Given the description of an element on the screen output the (x, y) to click on. 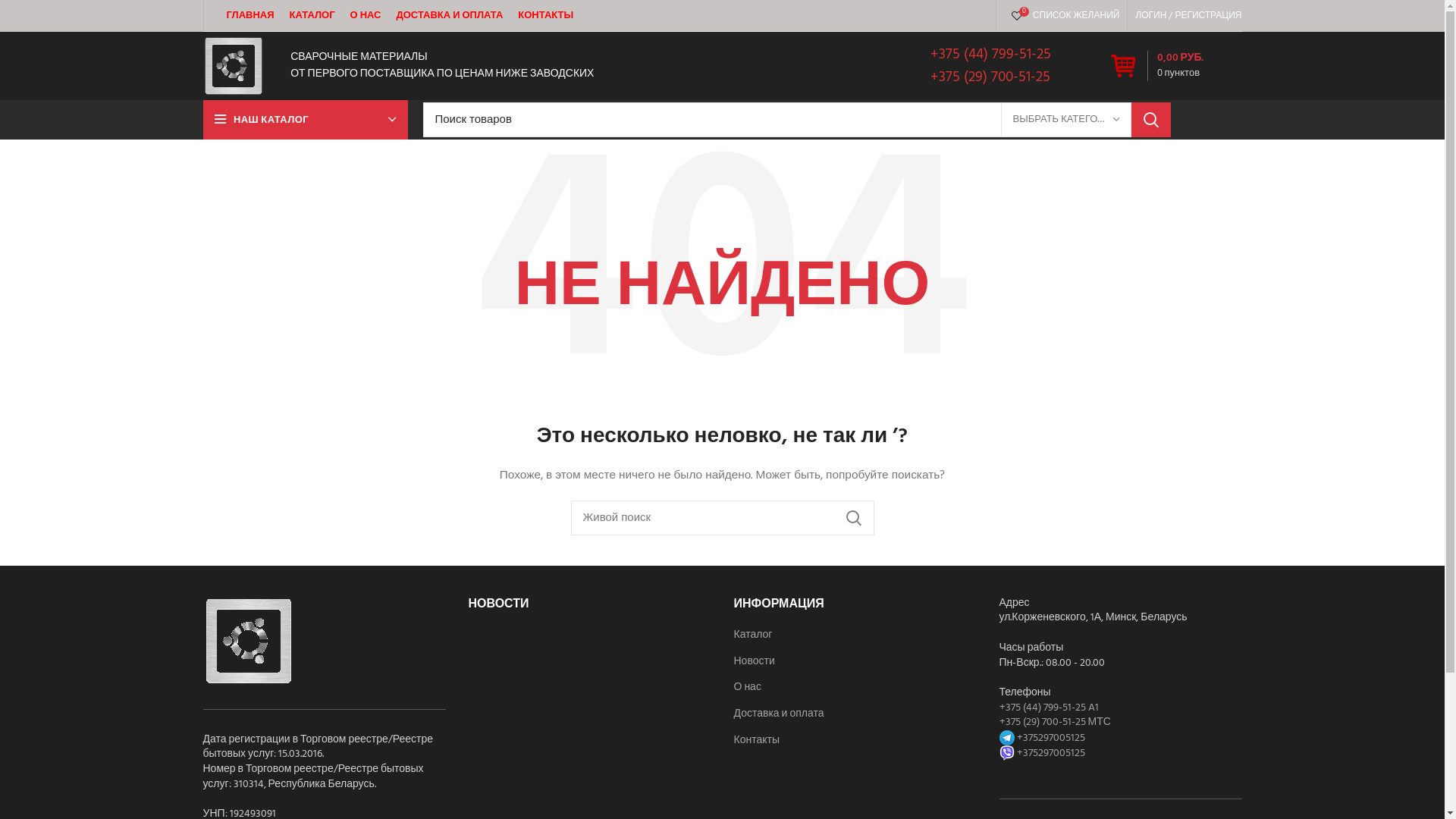
+375 (44) 799-51-25
+375 (29) 700-51-25 Element type: text (990, 66)
+375 (29) 700-51-25 Element type: text (990, 76)
+375297005125 Element type: text (1042, 737)
+375 (44) 799-51-25 A1 Element type: text (1048, 707)
+375 (44) 799-51-25 Element type: text (990, 54)
+375297005125 Element type: text (1042, 753)
